Given the description of an element on the screen output the (x, y) to click on. 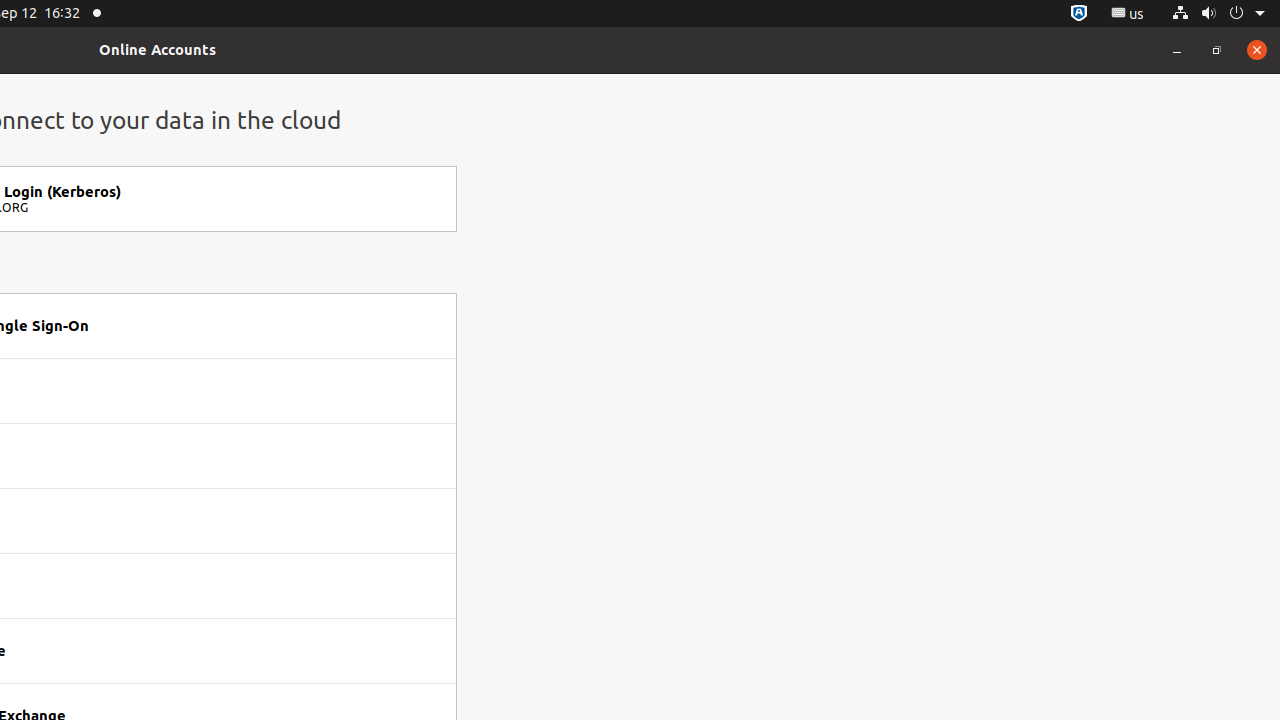
Minimize Element type: push-button (1177, 50)
Online Accounts Element type: label (157, 49)
Close Element type: push-button (1257, 50)
